Given the description of an element on the screen output the (x, y) to click on. 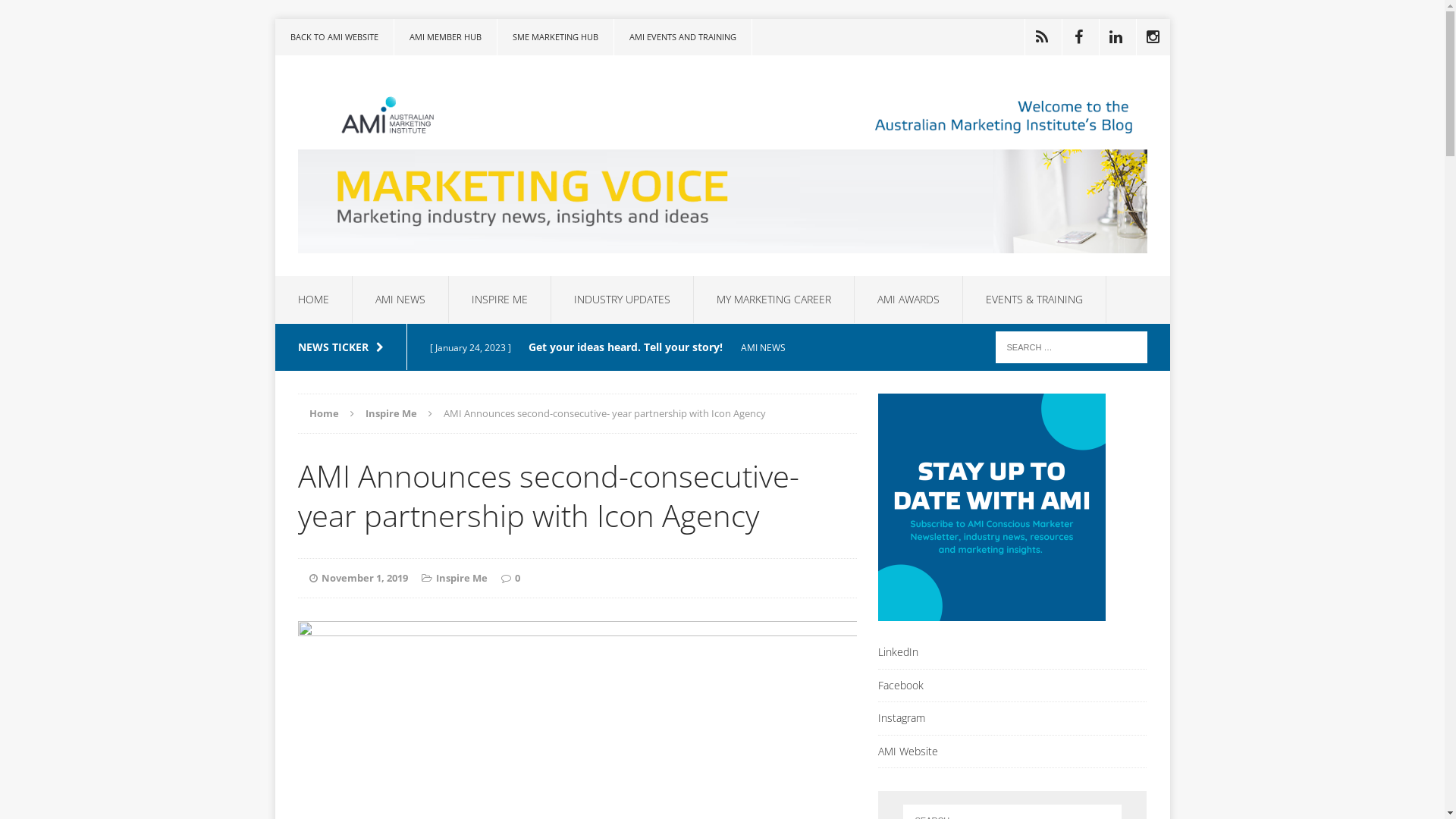
MY MARKETING CAREER Element type: text (773, 299)
AMI Website Element type: text (1012, 751)
LinkedIn Element type: text (1012, 655)
Inspire Me Element type: text (460, 577)
0 Element type: text (516, 577)
Facebook Element type: text (1012, 685)
BACK TO AMI WEBSITE Element type: text (333, 36)
November 1, 2019 Element type: text (364, 577)
Inspire Me Element type: text (391, 413)
SME MARKETING HUB Element type: text (555, 36)
AMI AWARDS Element type: text (907, 299)
Home Element type: text (323, 413)
EVENTS & TRAINING Element type: text (1034, 299)
INSPIRE ME Element type: text (499, 299)
HOME Element type: text (312, 299)
AMI EVENTS AND TRAINING Element type: text (682, 36)
Instagram Element type: text (1012, 718)
AMI MEMBER HUB Element type: text (445, 36)
AMI NEWS Element type: text (399, 299)
Search Element type: text (37, 15)
INDUSTRY UPDATES Element type: text (621, 299)
